Given the description of an element on the screen output the (x, y) to click on. 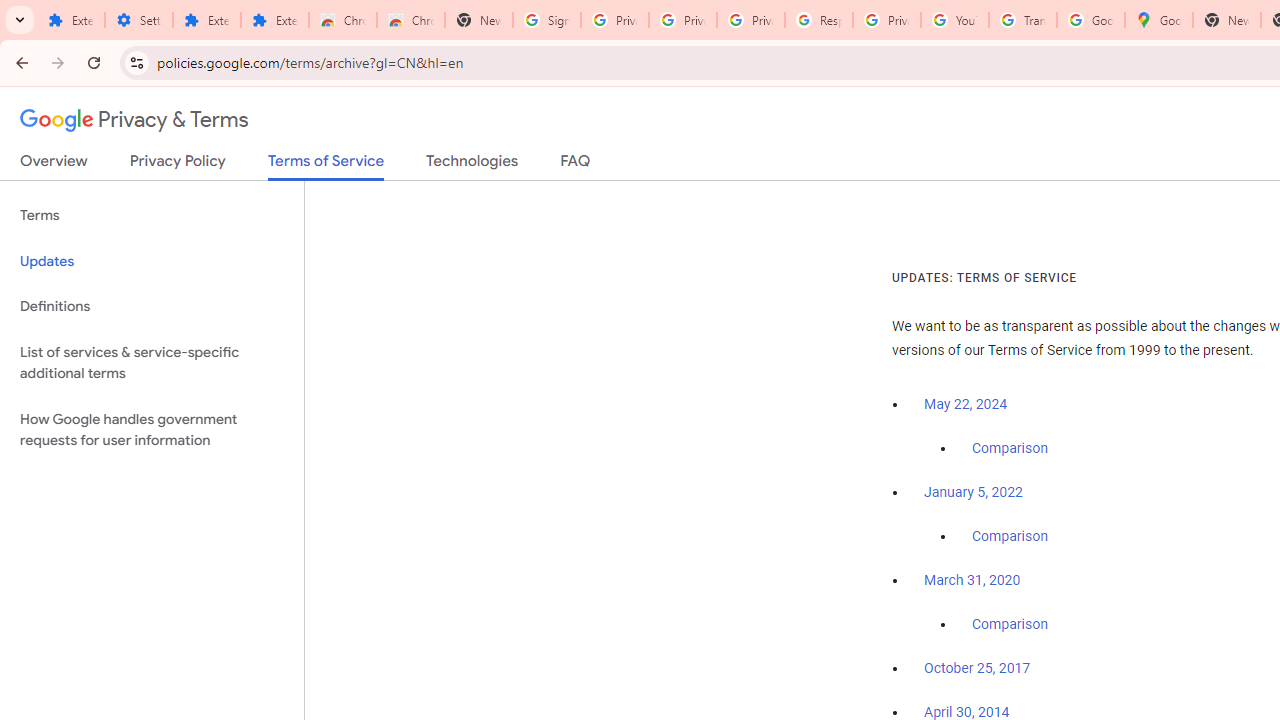
New Tab (479, 20)
List of services & service-specific additional terms (152, 362)
Google Maps (1158, 20)
January 5, 2022 (973, 492)
How Google handles government requests for user information (152, 429)
